Given the description of an element on the screen output the (x, y) to click on. 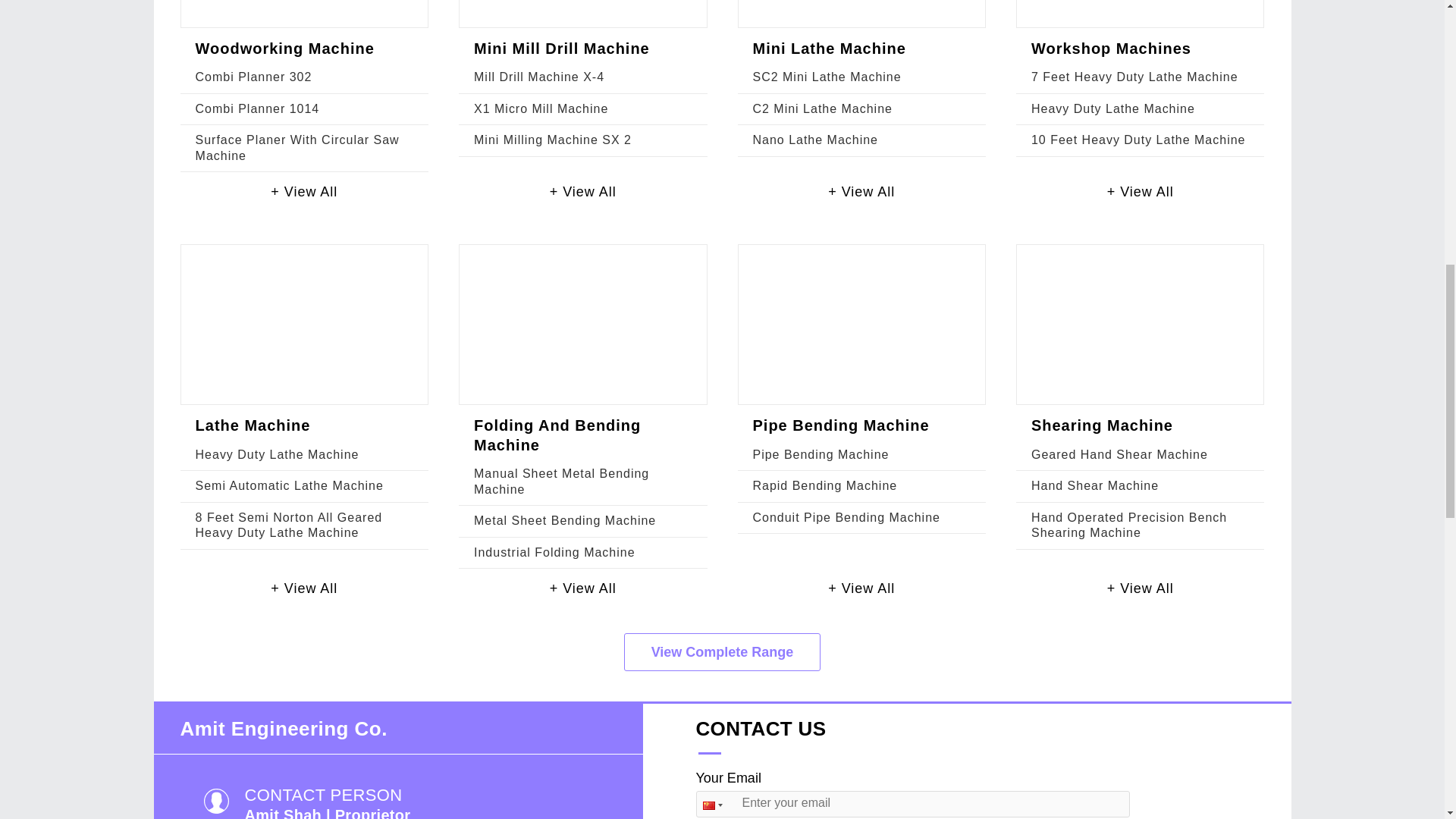
C2 Mini Lathe Machine (821, 108)
Mini Mill Drill Machine (561, 48)
Combi Planner 1014 (257, 108)
Mill Drill Machine X-4 (539, 76)
Mini Lathe Machine (828, 48)
Woodworking Machine (284, 48)
Surface Planer With Circular Saw Machine (296, 147)
SC2 Mini Lathe Machine (826, 76)
Combi Planner 302 (254, 76)
Nano Lathe Machine (814, 139)
Mini Milling Machine SX 2 (552, 139)
X1 Micro Mill Machine (541, 108)
